Given the description of an element on the screen output the (x, y) to click on. 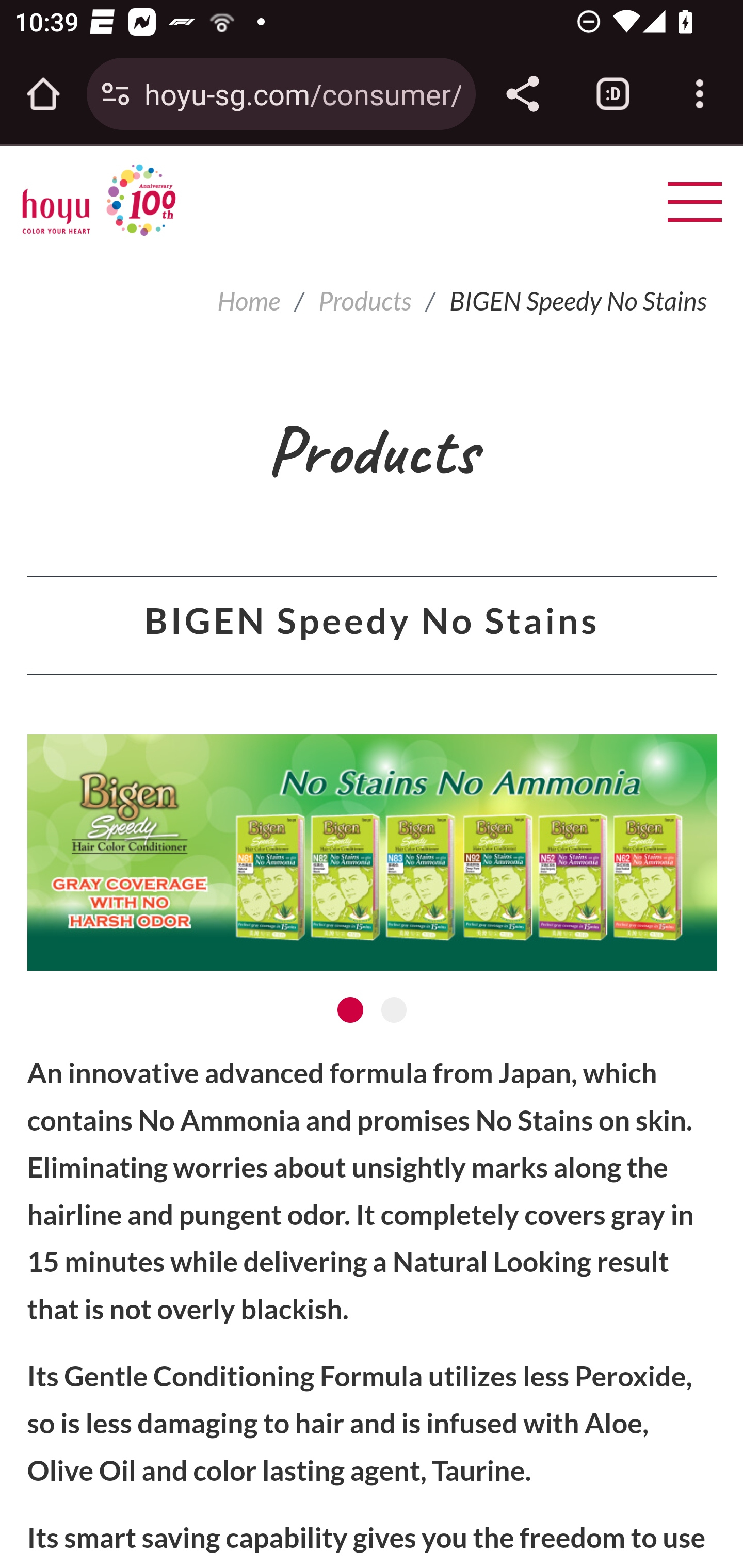
Open the home page (43, 93)
Connection is secure (115, 93)
Share (522, 93)
Switch or close tabs (612, 93)
Customize and control Google Chrome (699, 93)
hoyu Singapore (98, 199)
Home (248, 300)
Products (365, 300)
